Given the description of an element on the screen output the (x, y) to click on. 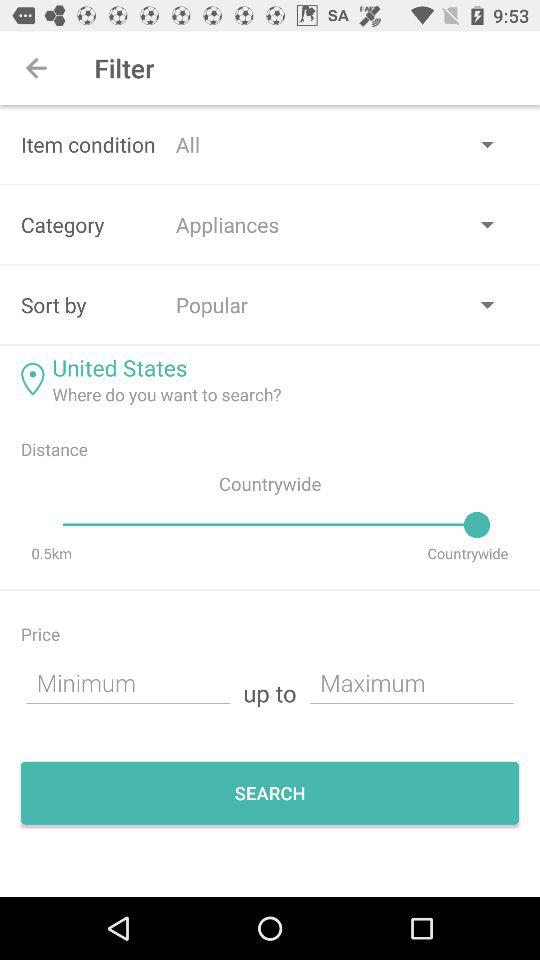
type minimum price (128, 682)
